Given the description of an element on the screen output the (x, y) to click on. 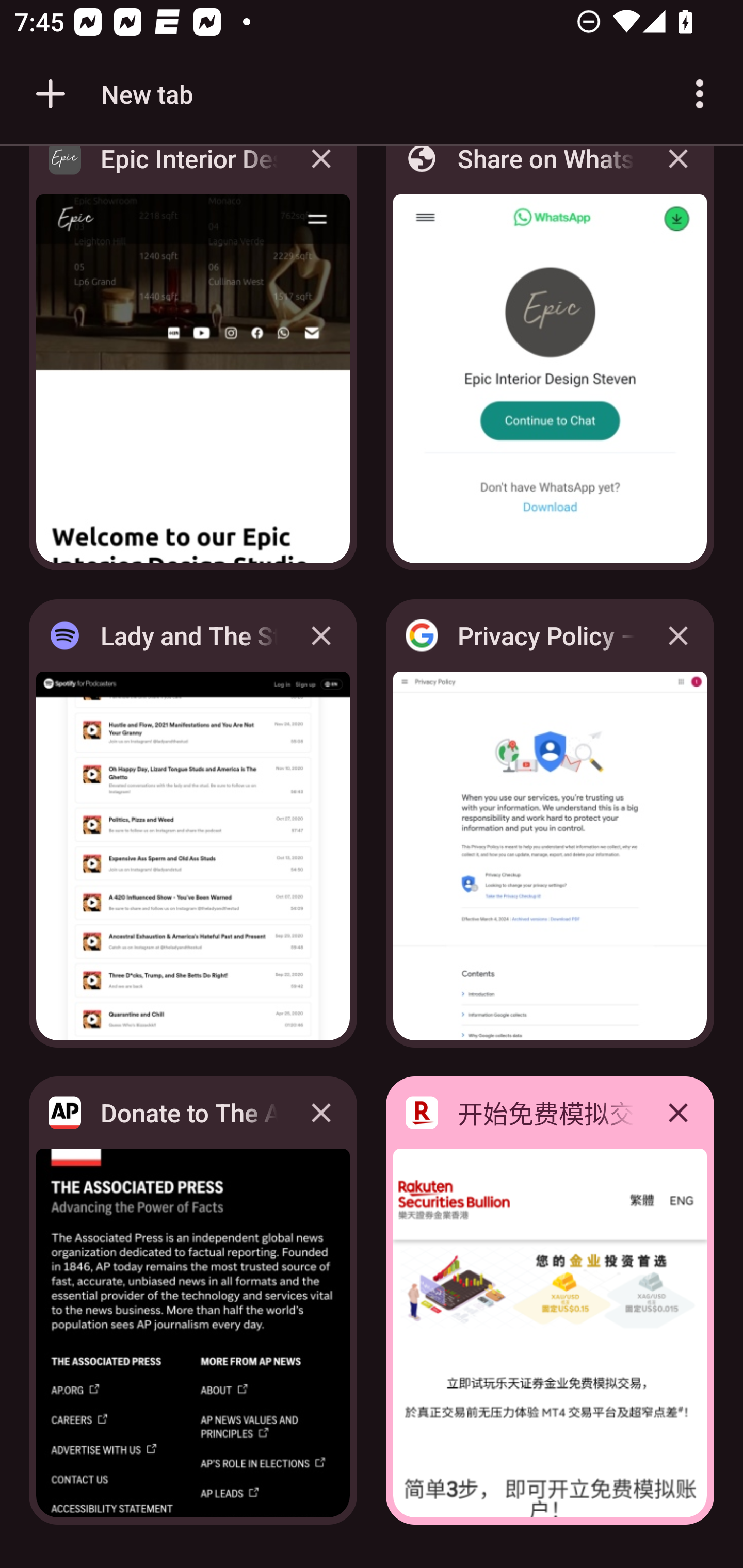
New tab (111, 93)
Customize and control Google Chrome (699, 93)
Close Share on WhatsApp tab (677, 173)
Close Donate to The AP | AP News tab (320, 1112)
Close 开始免费模拟交易 | 乐天证券金业 tab (677, 1112)
